Given the description of an element on the screen output the (x, y) to click on. 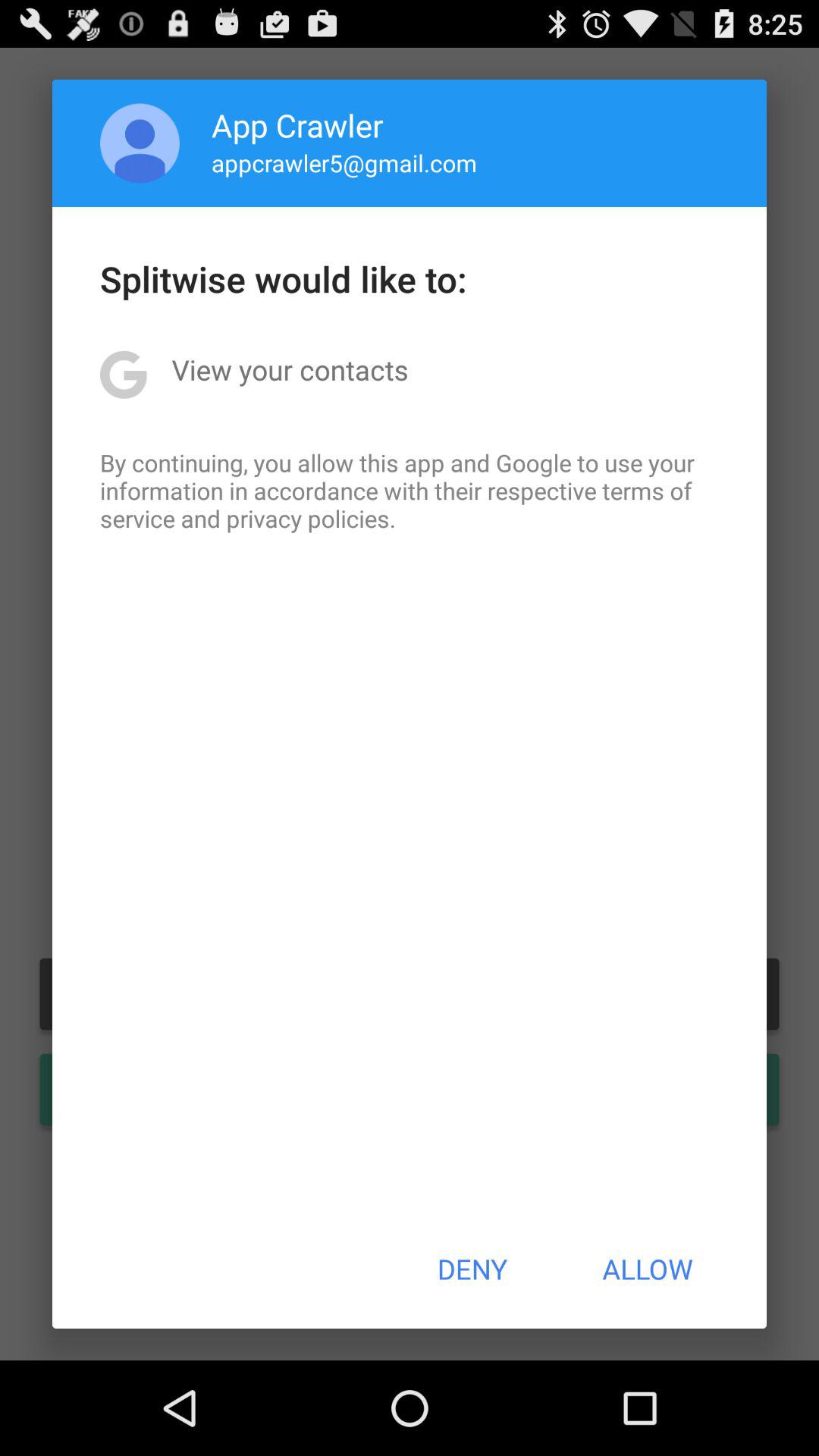
click deny (471, 1268)
